Given the description of an element on the screen output the (x, y) to click on. 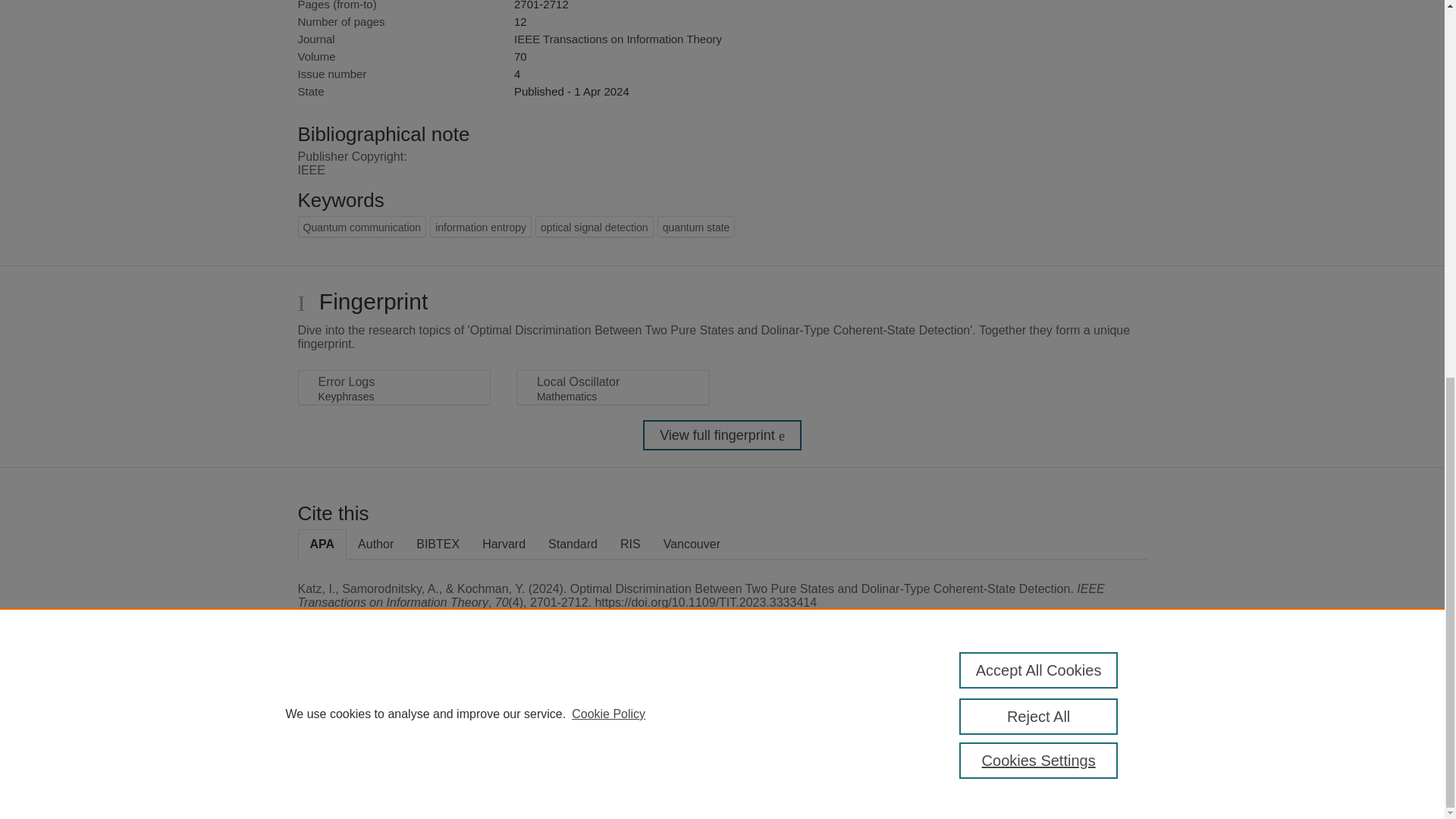
Cookies Settings (1038, 62)
Pure (362, 708)
Reject All (1038, 18)
Report vulnerability (1088, 745)
IEEE Transactions on Information Theory (617, 38)
Elsevier B.V. (506, 728)
Cookies Settings (334, 781)
View full fingerprint (722, 435)
use of cookies (796, 760)
Cookie Policy (608, 15)
Scopus (394, 708)
About web accessibility (1088, 713)
